Given the description of an element on the screen output the (x, y) to click on. 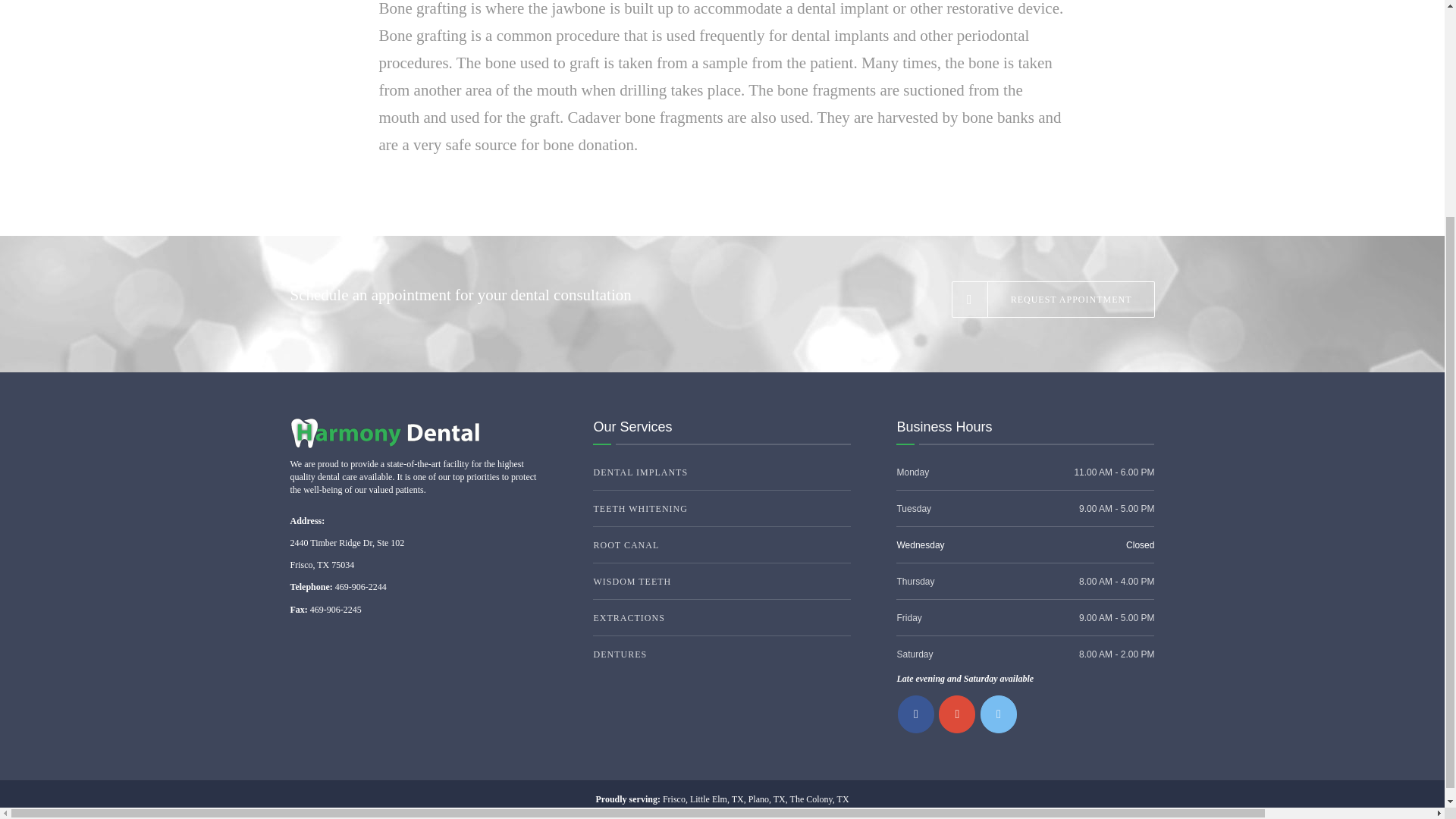
Reviews (957, 714)
Like Us (916, 714)
Follow Us (997, 714)
